Given the description of an element on the screen output the (x, y) to click on. 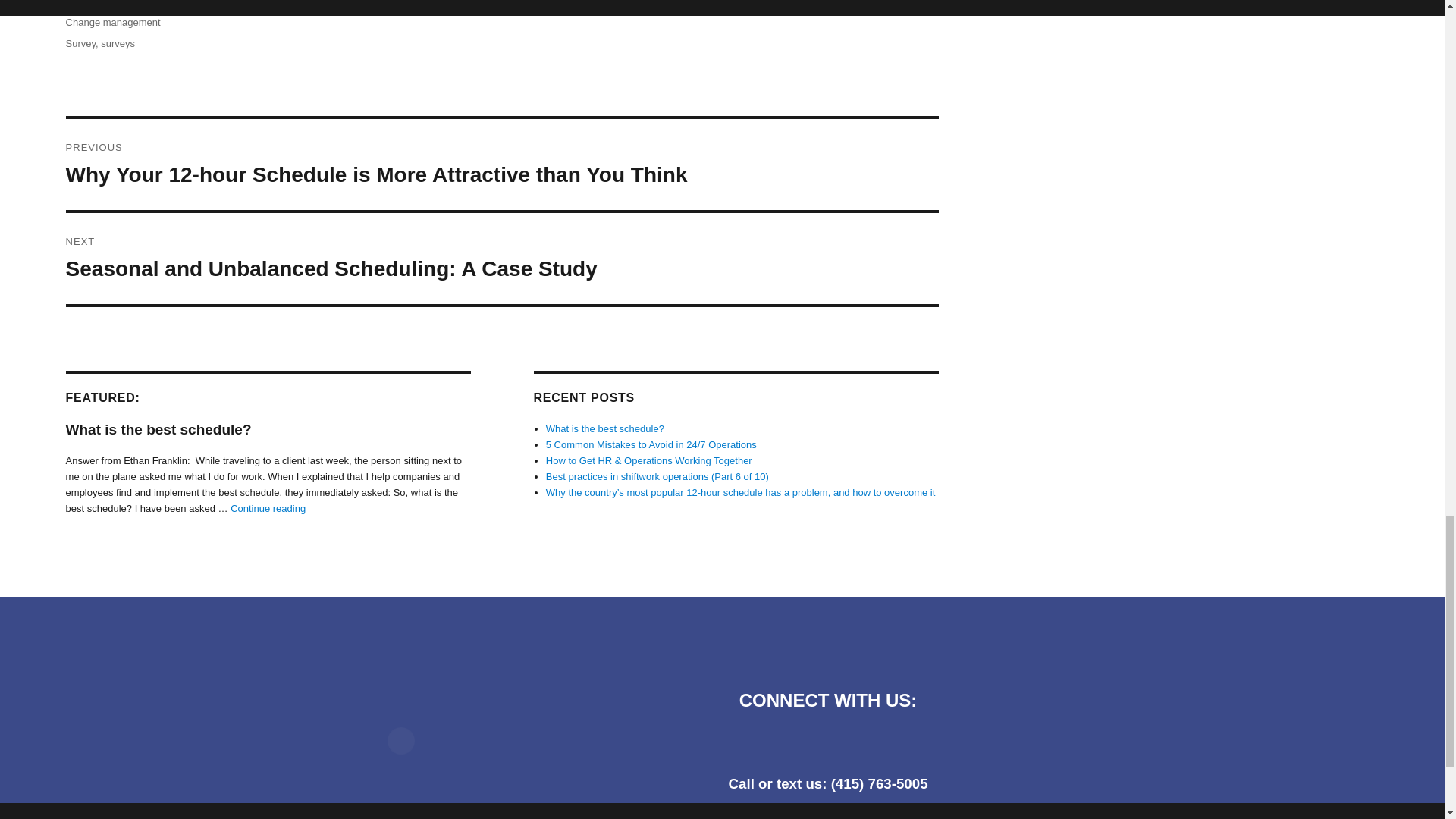
Follow Us on Twitter (787, 744)
Subscribe on YouTube (868, 744)
Find Us on LinkedIn (828, 744)
